Given the description of an element on the screen output the (x, y) to click on. 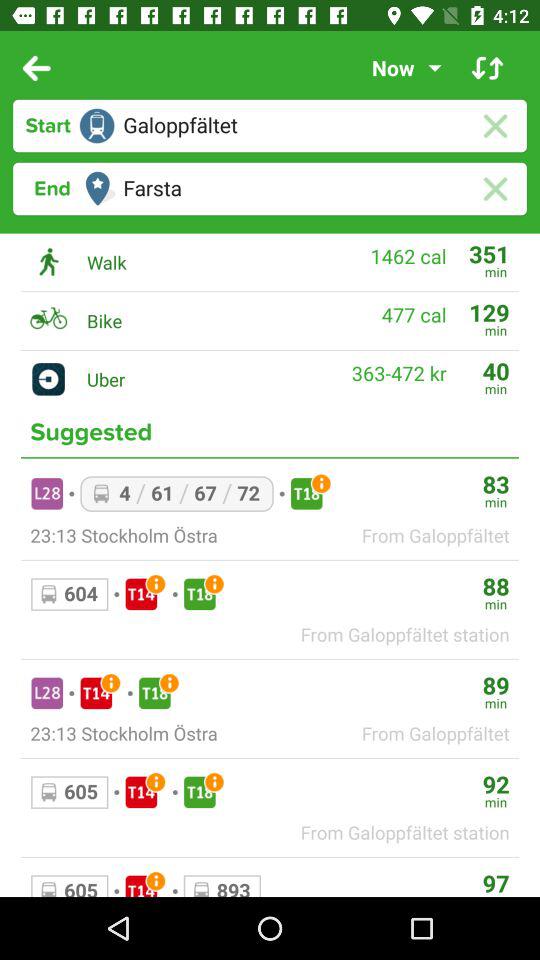
click on the button which is left side of the refresh (402, 67)
